Given the description of an element on the screen output the (x, y) to click on. 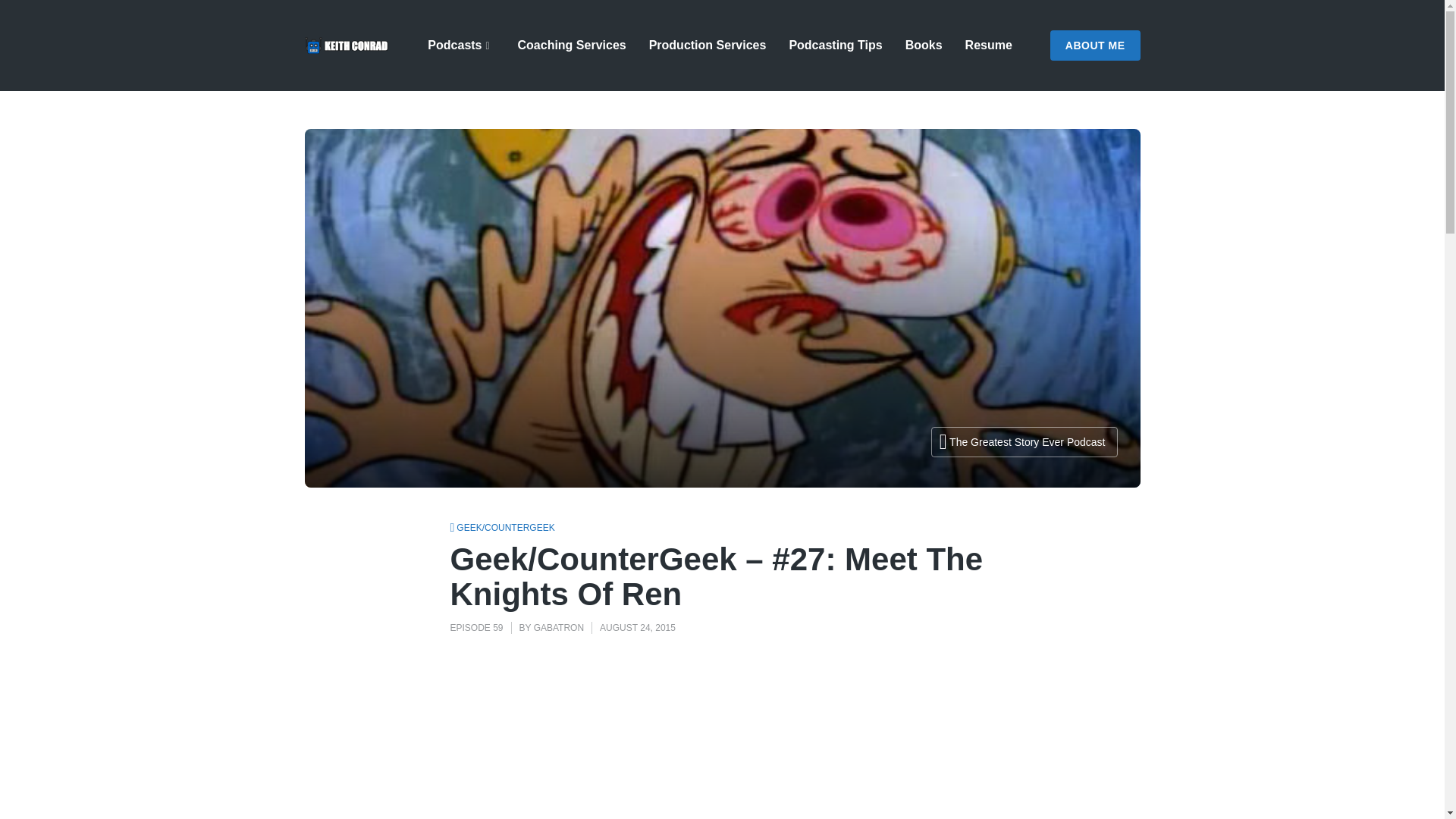
Podcasts (461, 45)
Production Services (708, 45)
Resume (988, 45)
Coaching Services (571, 45)
Books (923, 45)
Podcasting Tips (835, 45)
ABOUT ME (1094, 45)
